Given the description of an element on the screen output the (x, y) to click on. 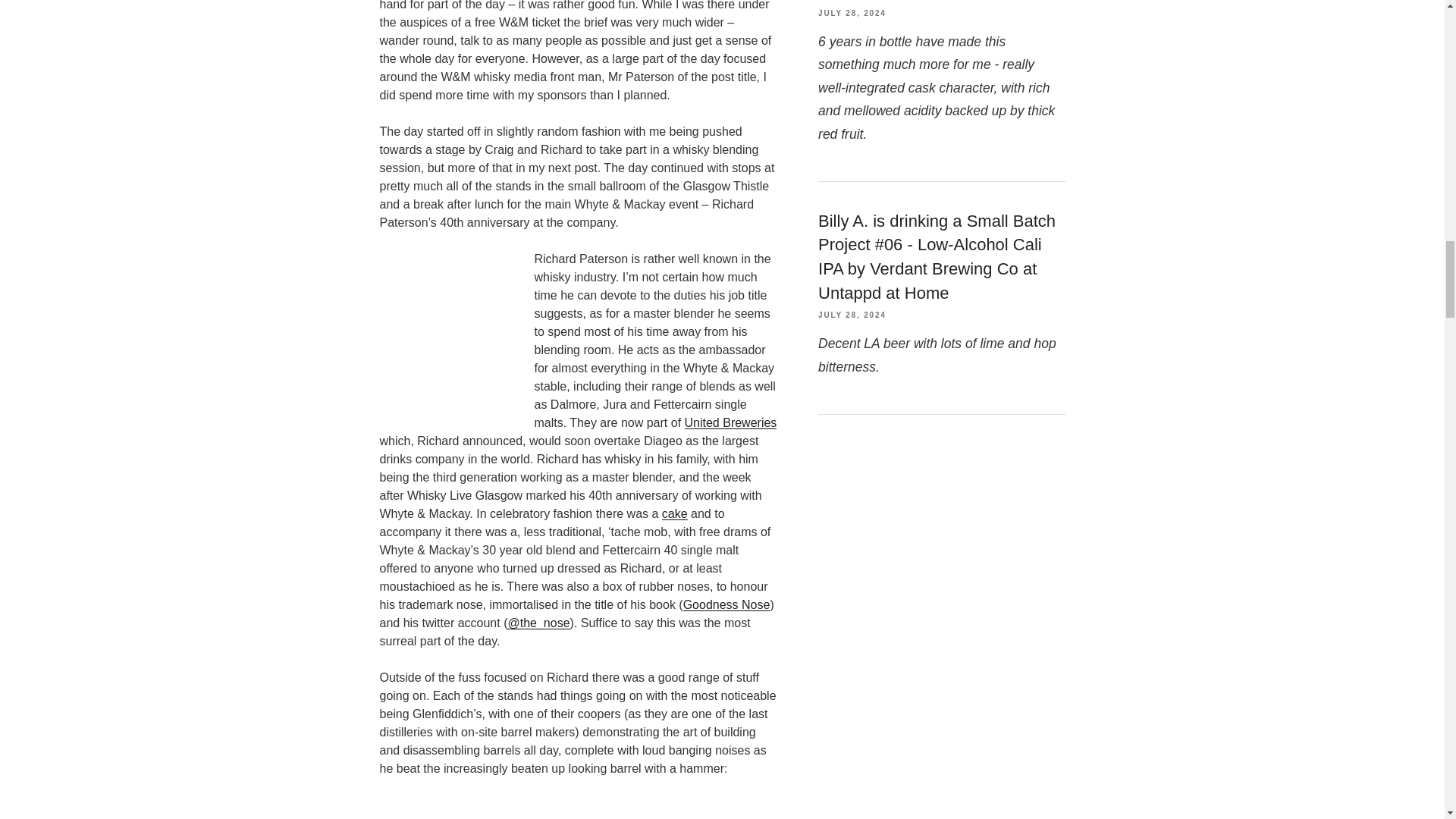
Goodness Nose (726, 604)
cake (674, 513)
United Breweries (730, 422)
